Given the description of an element on the screen output the (x, y) to click on. 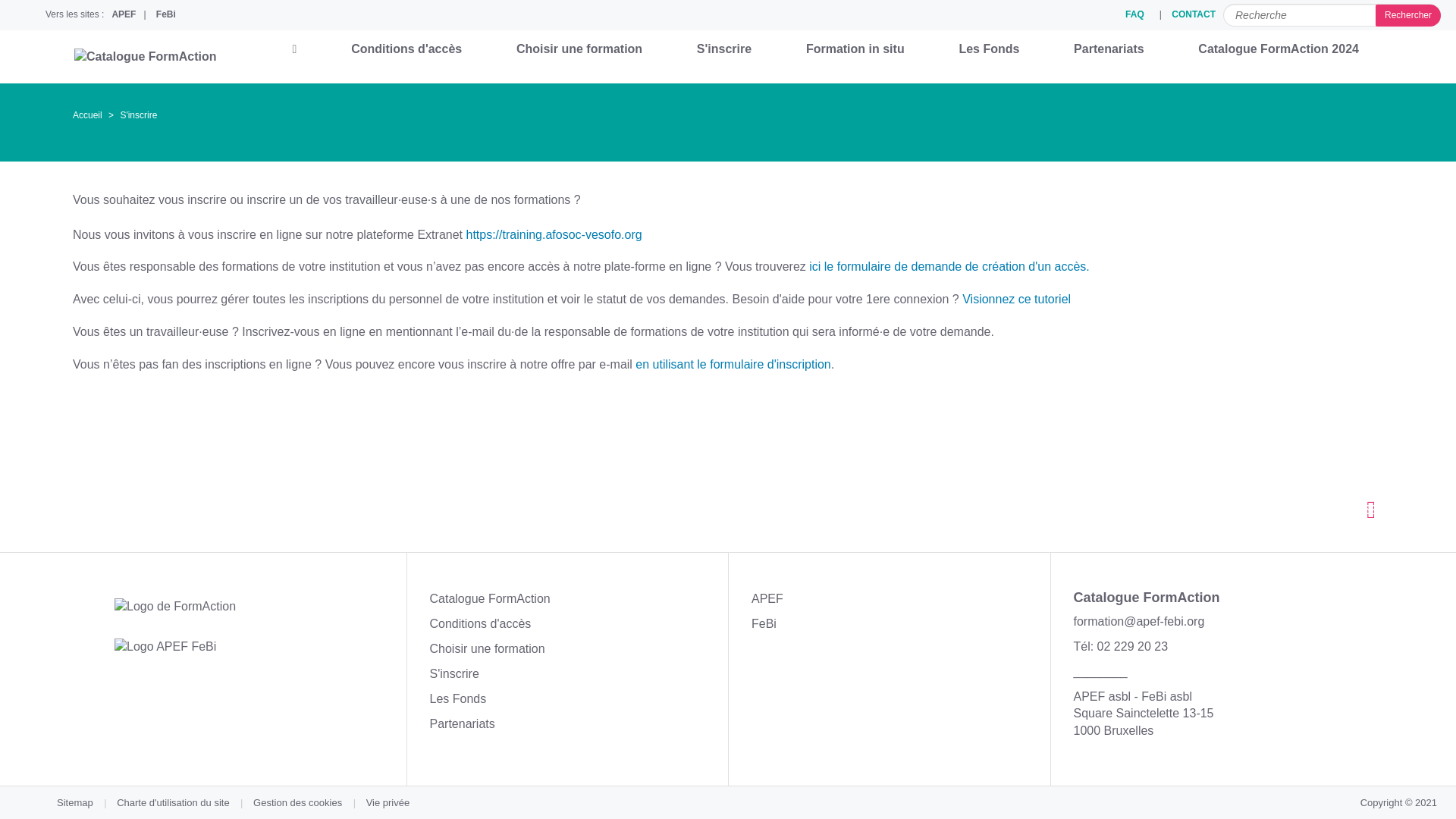
Choisir une formation Element type: text (486, 648)
Choisir une formation Element type: text (578, 48)
APEF Element type: text (123, 14)
Site Element type: hover (181, 56)
Logos Element type: hover (165, 646)
Charte d'utilisation du site Element type: text (172, 802)
Les Fonds Element type: text (457, 698)
Catalogue FormAction Element type: text (489, 598)
Partenariats Element type: text (1108, 48)
FeBi Element type: text (165, 14)
Catalogue FormAction 2024 Element type: text (1278, 48)
Visionnez ce tutoriel Element type: text (1016, 298)
Partenariats Element type: text (461, 723)
S'inscrire Element type: text (453, 673)
formation@apef-febi.org Element type: text (1138, 621)
en utilisant le formulaire d'inscription Element type: text (732, 363)
FeBi Element type: text (763, 623)
Catalogue FormAction Element type: hover (145, 56)
Formation in situ Element type: text (855, 48)
APEF Element type: text (767, 598)
Recherche Element type: hover (1331, 14)
FormAction Element type: hover (174, 606)
CONTACT Element type: text (1193, 14)
Sitemap Element type: text (74, 802)
Gestion des cookies Element type: text (297, 802)
Rechercher Element type: text (1407, 15)
FAQ Element type: text (1134, 14)
S'inscrire Element type: text (724, 48)
https://training.afosoc-vesofo.org Element type: text (553, 234)
Les Fonds Element type: text (988, 48)
Accueil Element type: text (87, 114)
